Given the description of an element on the screen output the (x, y) to click on. 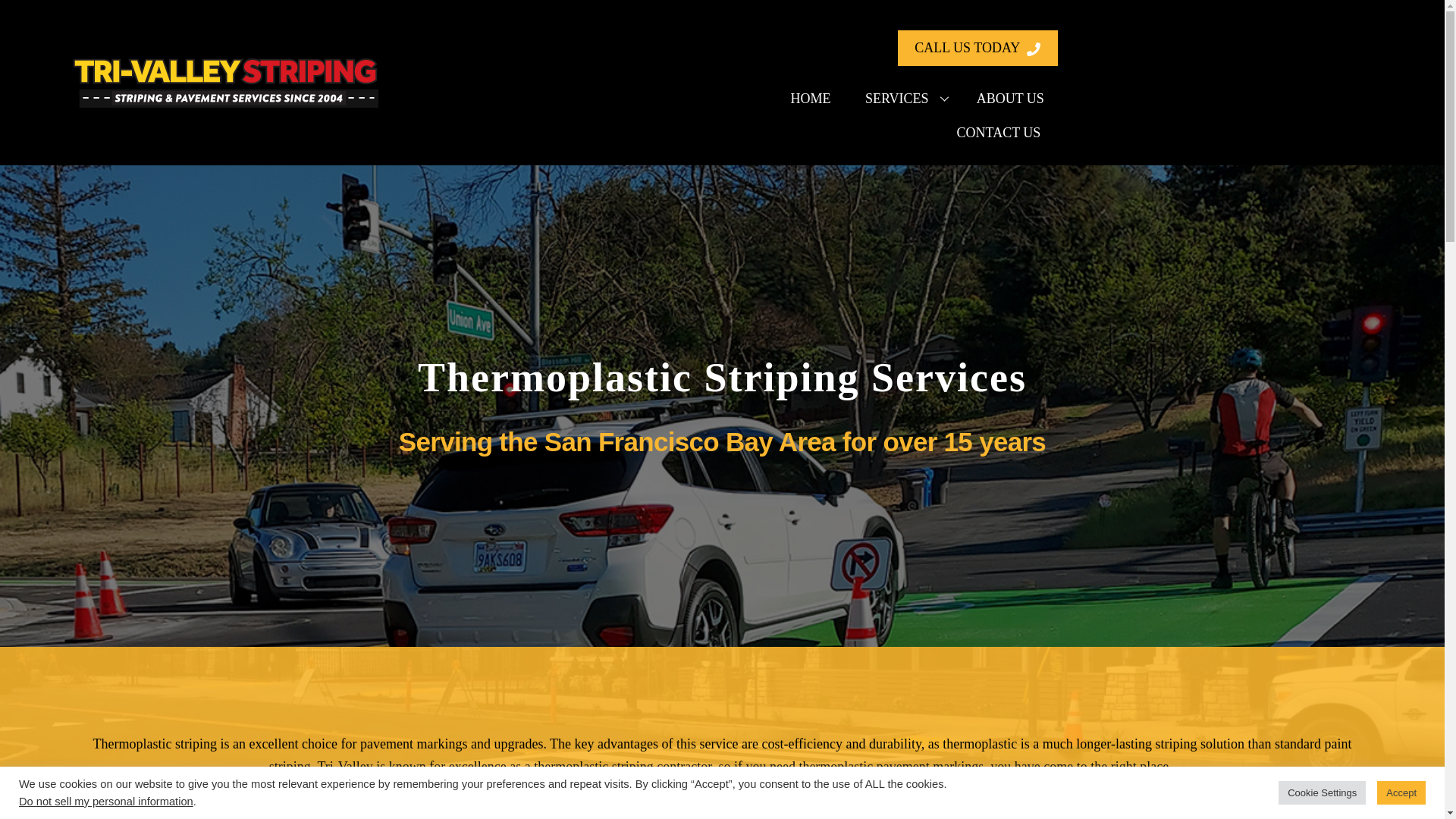
Thermoplastic (225, 82)
CONTACT US (998, 133)
ABOUT US (1010, 98)
SERVICES (903, 98)
Accept (1401, 792)
Cookie Settings (900, 115)
HOME (1321, 792)
CALL US TODAY (810, 98)
Do not sell my personal information (978, 48)
